Given the description of an element on the screen output the (x, y) to click on. 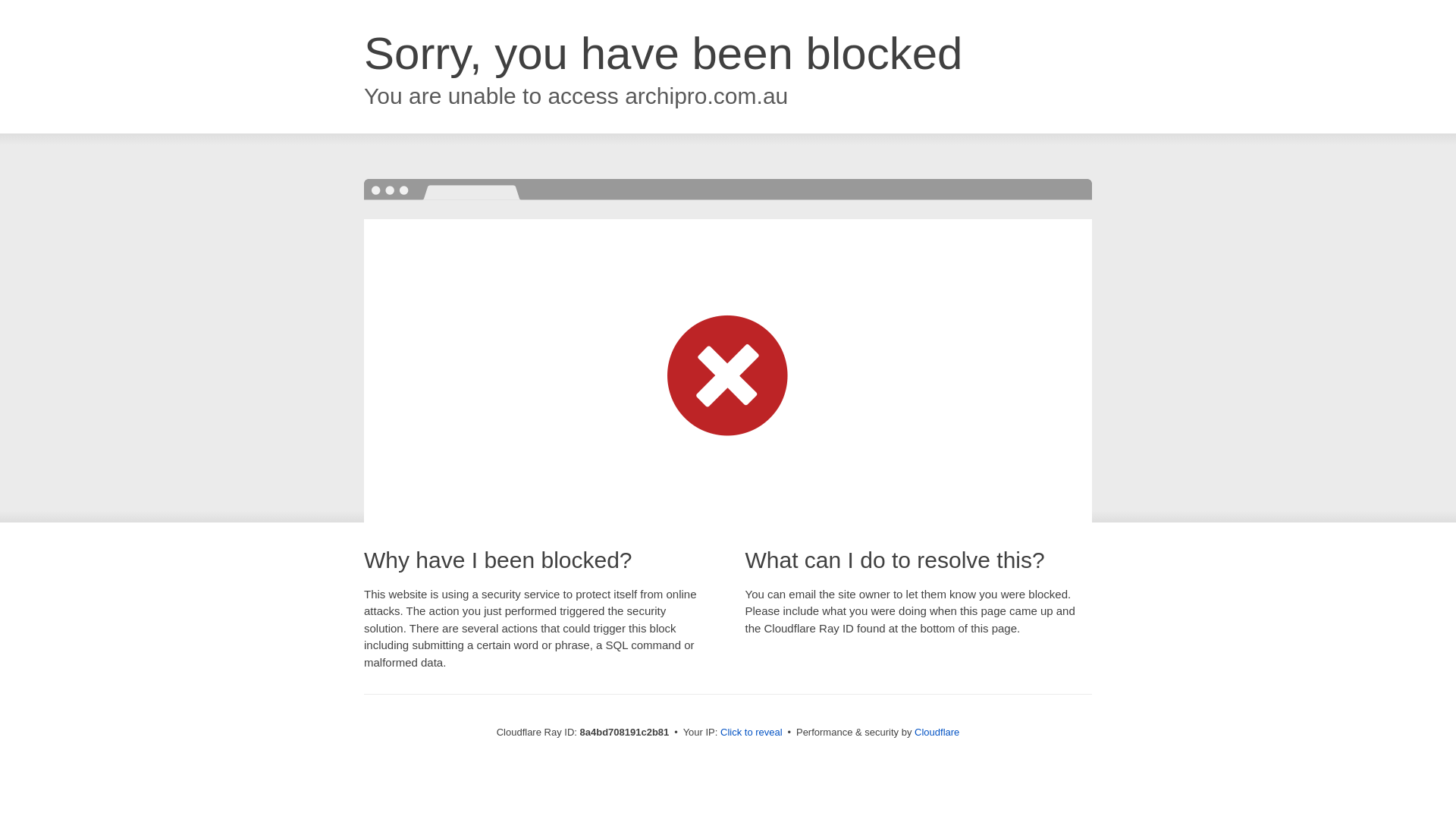
Cloudflare (936, 731)
Click to reveal (751, 732)
